Given the description of an element on the screen output the (x, y) to click on. 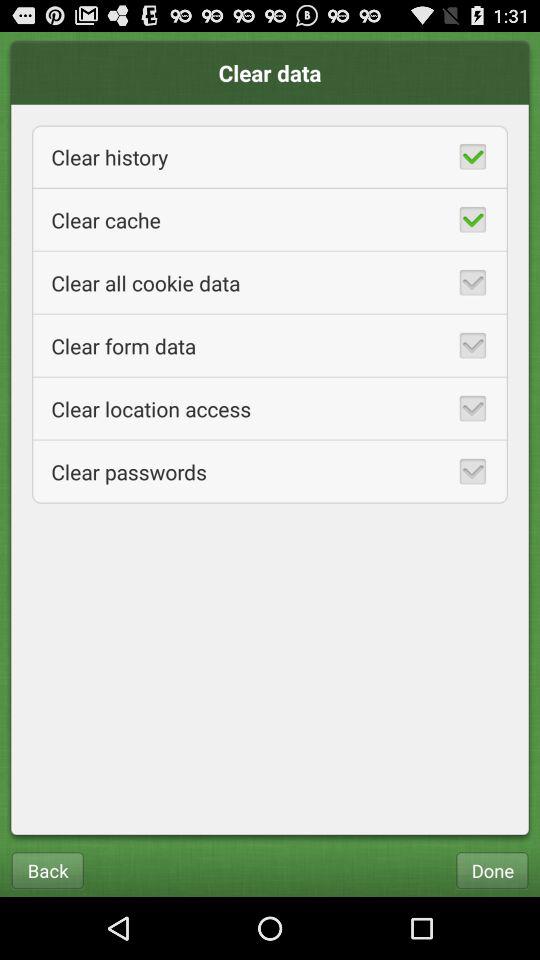
click done (492, 870)
